Given the description of an element on the screen output the (x, y) to click on. 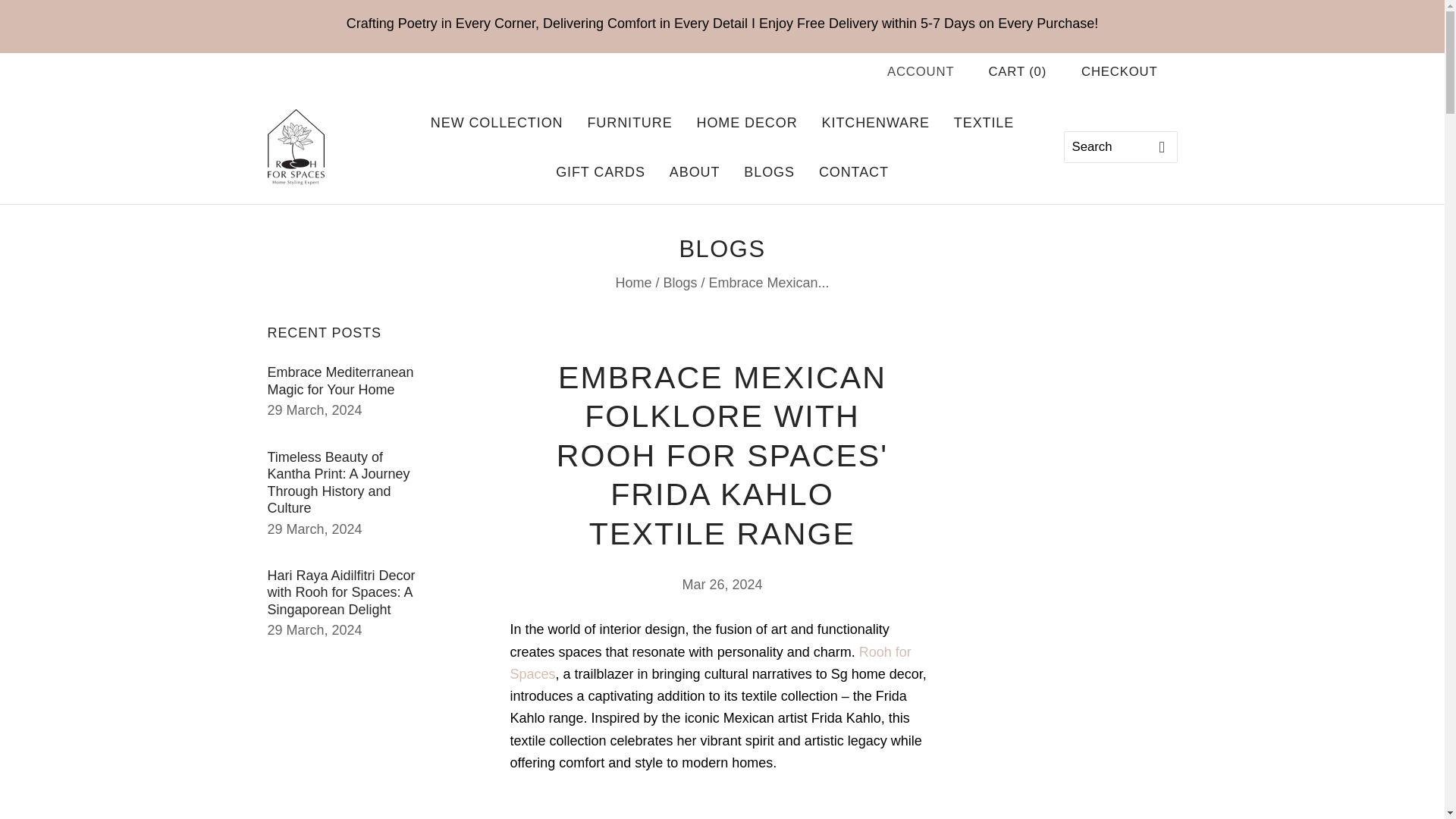
KITCHENWARE (875, 123)
TEXTILE (984, 123)
Blogs (679, 282)
Home (632, 282)
CONTACT (853, 172)
CHECKOUT (1119, 71)
BLOGS (769, 172)
ACCOUNT (919, 71)
FURNITURE (629, 123)
29 March, 2024 (313, 630)
Rooh for Spaces (710, 662)
HOME DECOR (746, 123)
29 March, 2024 (313, 409)
Rooh for Spaces (710, 662)
